Given the description of an element on the screen output the (x, y) to click on. 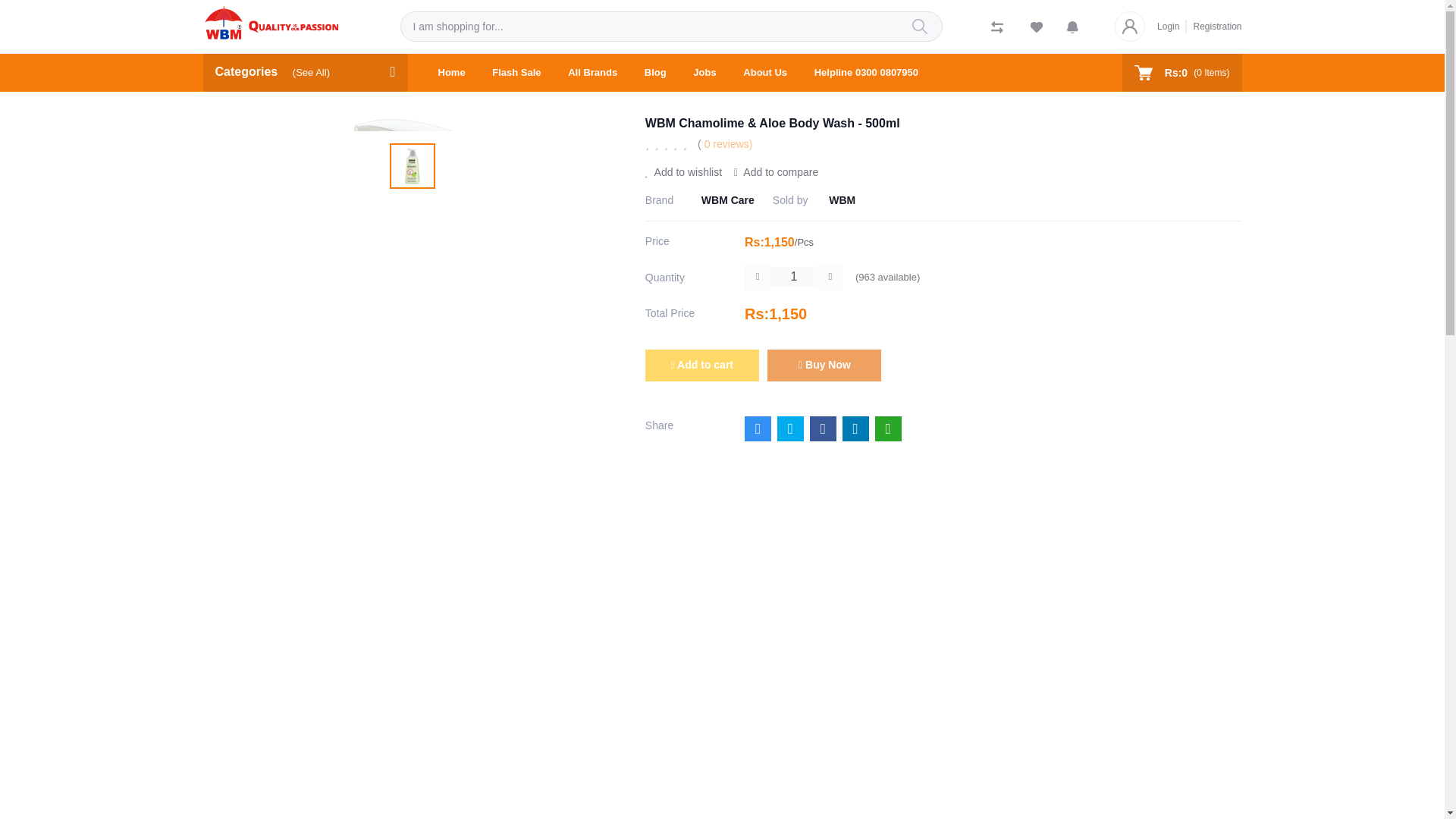
Registration (1213, 26)
All Brands (592, 72)
Cart (1181, 72)
Flash Sale (516, 72)
Jobs (704, 72)
Helpline 0300 0807950 (866, 72)
Blog (654, 72)
Login (1171, 26)
About Us (764, 72)
1 (793, 276)
